Given the description of an element on the screen output the (x, y) to click on. 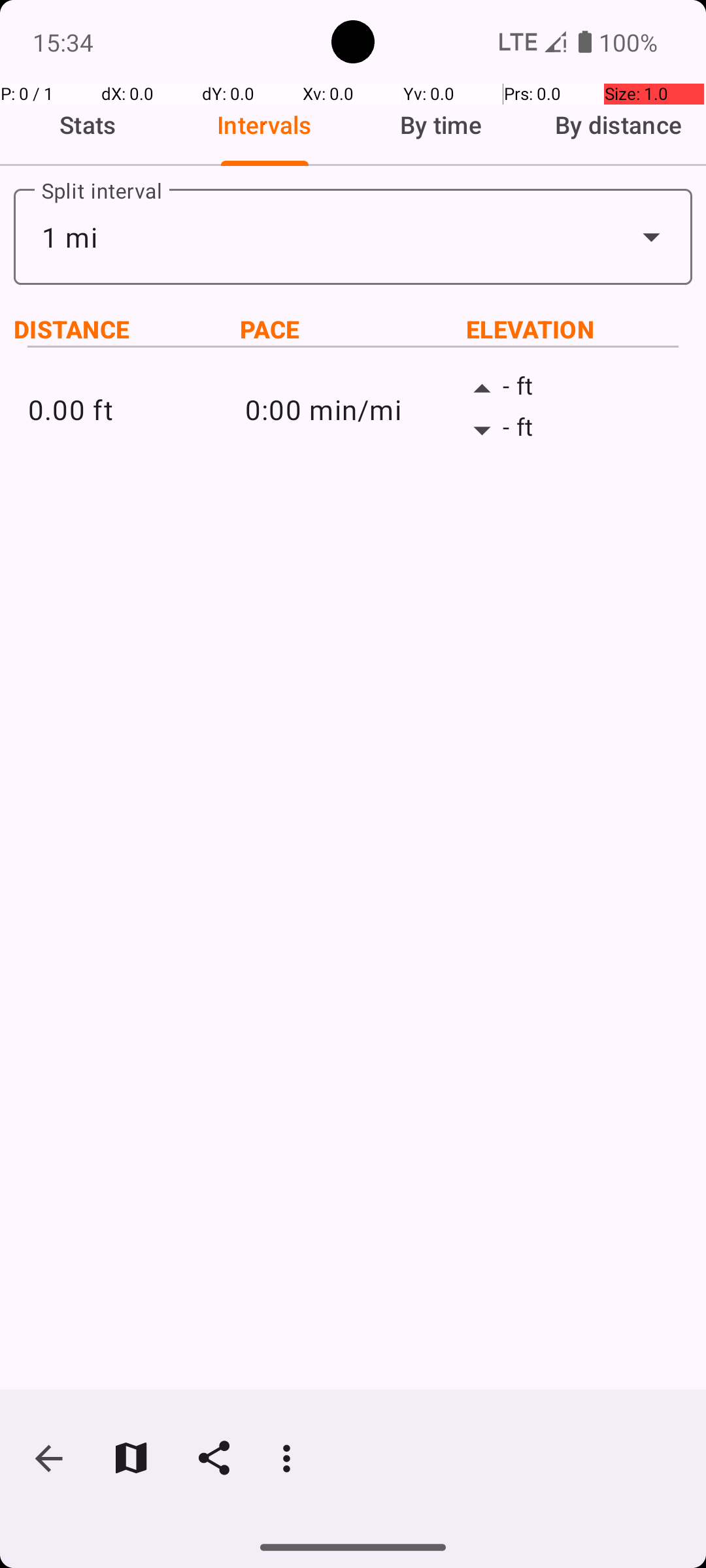
PACE Element type: android.widget.TextView (352, 328)
0:00 min/mi Element type: android.widget.TextView (352, 408)
